Given the description of an element on the screen output the (x, y) to click on. 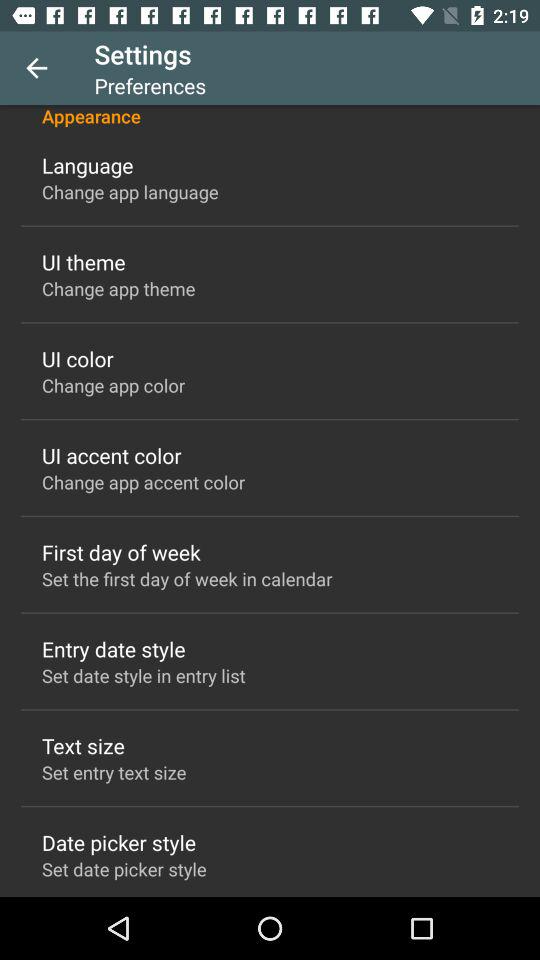
scroll until the ui theme item (83, 261)
